Given the description of an element on the screen output the (x, y) to click on. 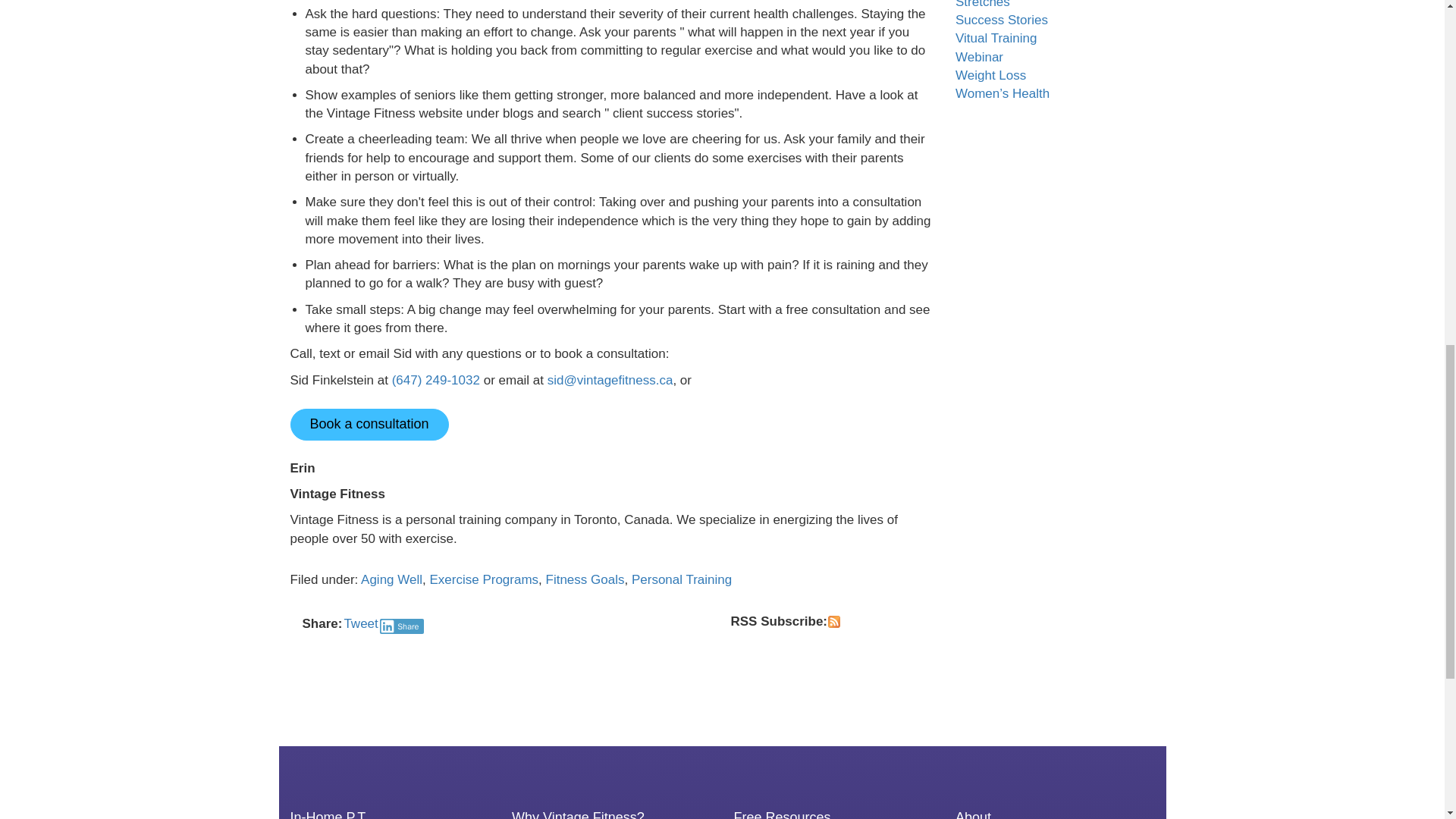
Personal Training (681, 579)
Exercise Programs (483, 579)
Book a free consultation (368, 424)
Share (402, 626)
Tweet (360, 623)
Aging Well (391, 579)
Book a consultation (368, 424)
Fitness Goals (585, 579)
